Given the description of an element on the screen output the (x, y) to click on. 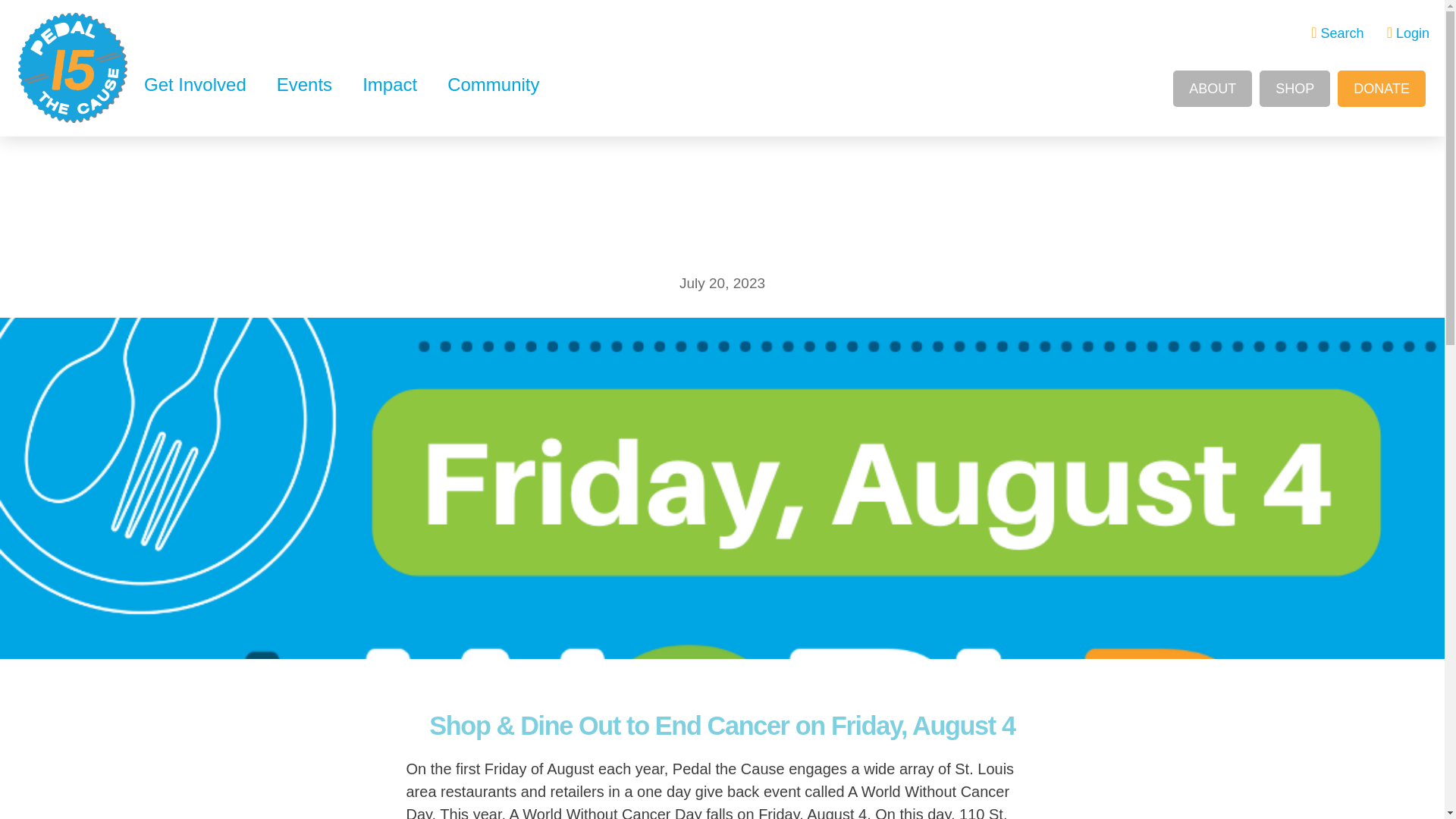
Login (1408, 32)
DONATE (1381, 88)
ABOUT (1212, 88)
SHOP (1294, 88)
Community (493, 84)
Get Involved (195, 84)
Events (304, 84)
Impact (389, 84)
